Given the description of an element on the screen output the (x, y) to click on. 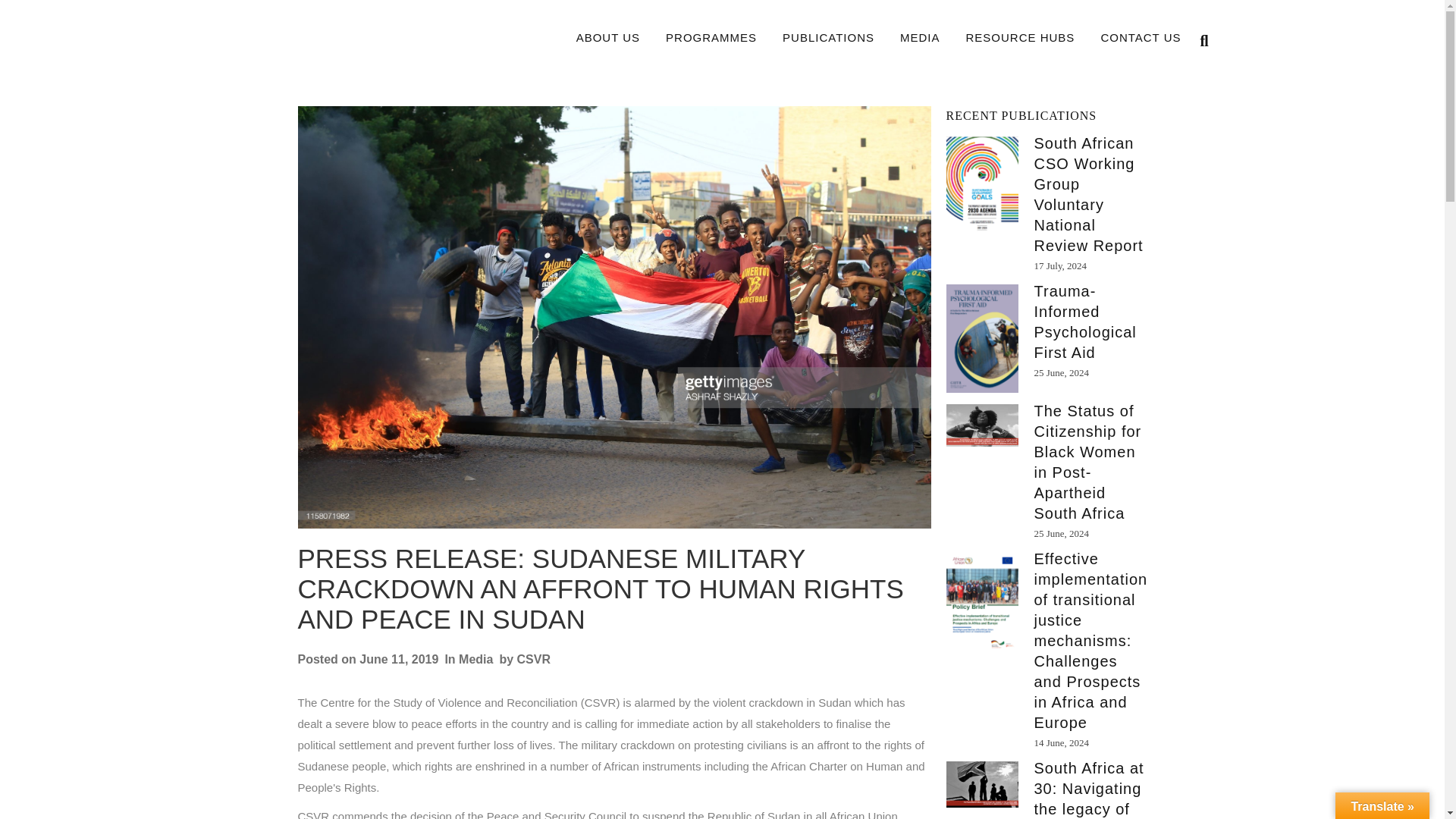
RESOURCE HUBS (1020, 38)
CONTACT US (1140, 38)
PUBLICATIONS (828, 38)
PROGRAMMES (711, 38)
ABOUT US (607, 38)
